Given the description of an element on the screen output the (x, y) to click on. 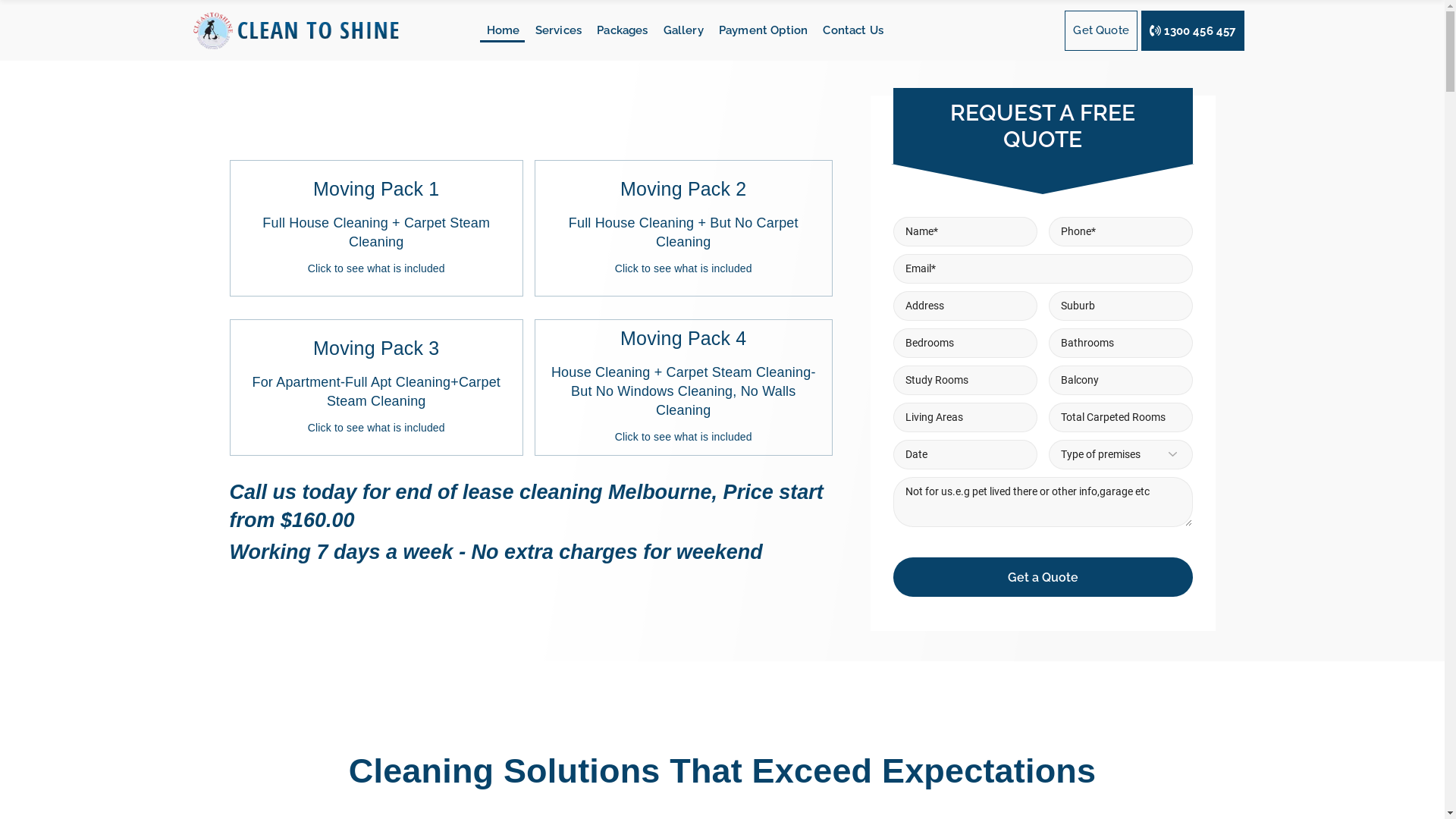
Get Quote Element type: text (1100, 30)
Payment Option Element type: text (757, 30)
Contact Us Element type: text (847, 30)
Packages Element type: text (616, 30)
1300 456 457 Element type: text (1192, 30)
Get a Quote Element type: text (1042, 576)
Services Element type: text (552, 30)
Home Element type: text (497, 30)
Gallery Element type: text (677, 30)
